Given the description of an element on the screen output the (x, y) to click on. 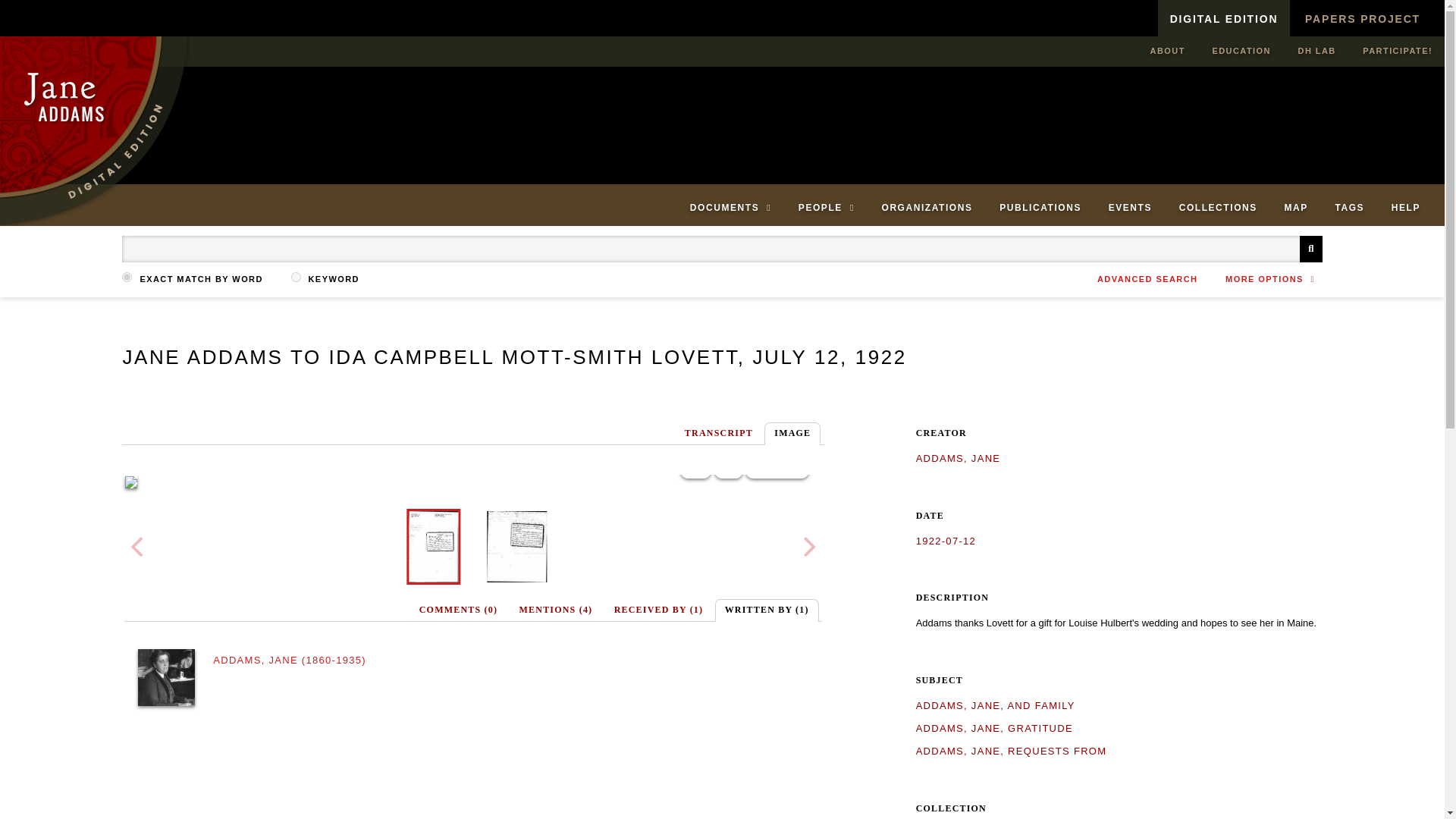
HELP (1405, 207)
TRANSCRIPT (718, 433)
- (728, 465)
DH LAB (1316, 51)
DIGITAL EDITION (1223, 18)
keyword (296, 276)
EVENTS (1129, 207)
DOCUMENTS (730, 207)
PEOPLE (826, 207)
RESET (777, 465)
SUBMIT (1311, 248)
JA-Closeup.JPG (166, 677)
ADVANCED SEARCH (1146, 278)
IMAGE (792, 433)
Search (722, 248)
